Given the description of an element on the screen output the (x, y) to click on. 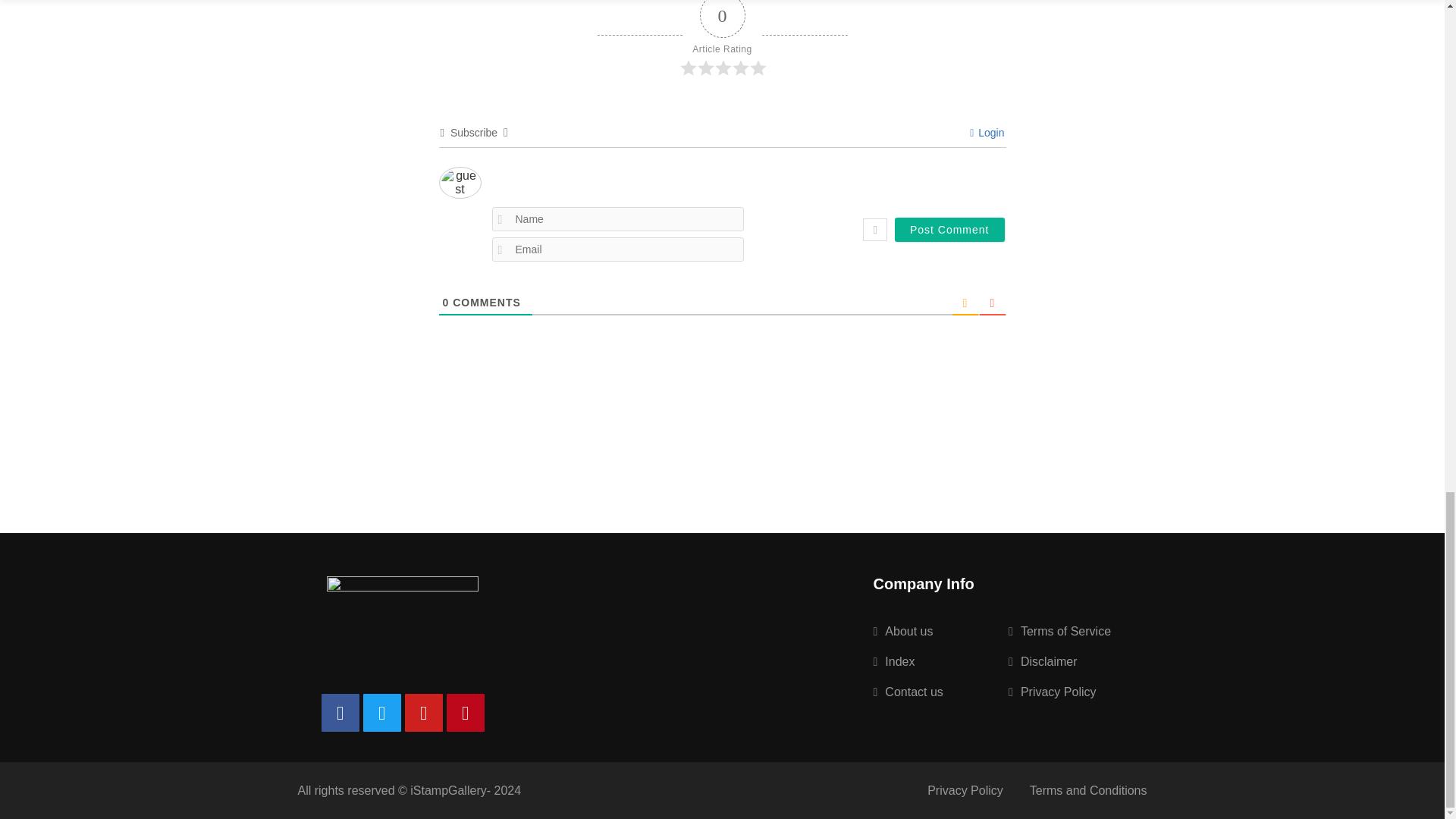
Post Comment (949, 229)
